Given the description of an element on the screen output the (x, y) to click on. 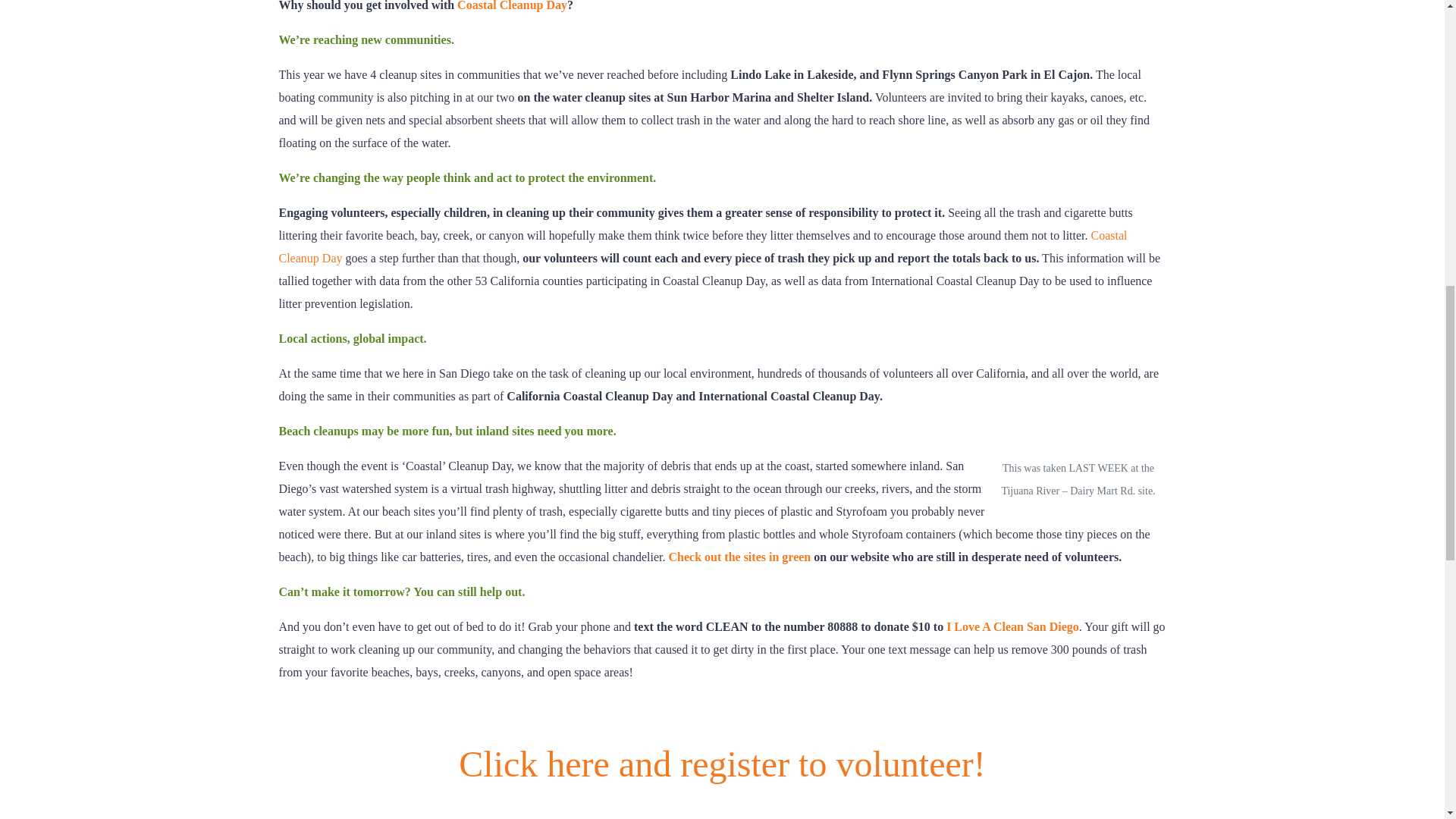
Coastal Cleanup Day San Diego (721, 781)
I Love A Clean San Diego Support (1012, 626)
Coastal Cleanup Day San Diego Sites (739, 556)
Coastal Cleanup Day San Diego (512, 5)
Coastal Cleanup Day San Diego (702, 246)
